Given the description of an element on the screen output the (x, y) to click on. 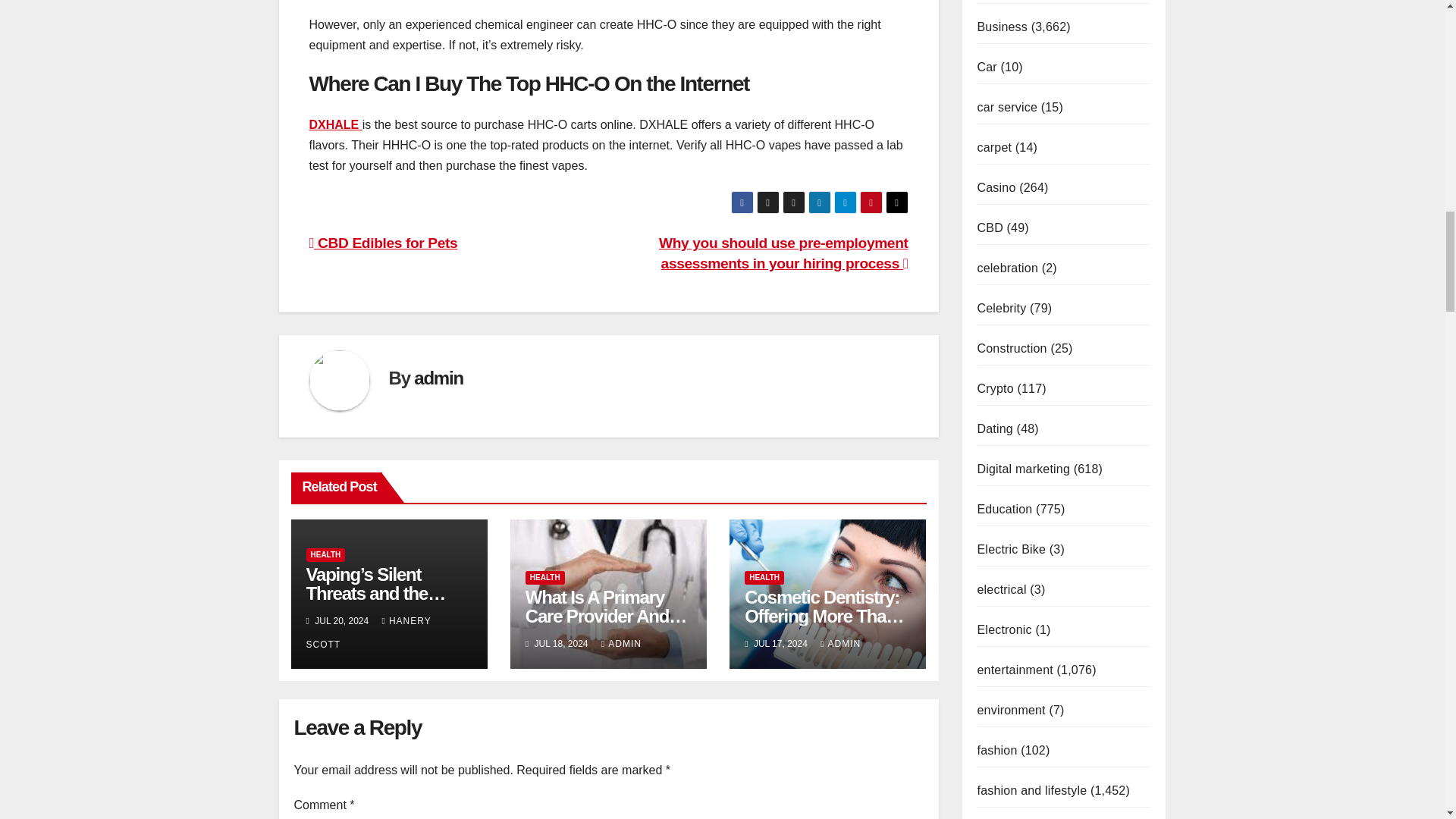
What Is A Primary Care Provider And Why Do You Need One? (606, 625)
DXHALE (335, 124)
HEALTH (325, 554)
HEALTH (544, 577)
CBD Edibles for Pets (383, 242)
HANERY SCOTT (367, 632)
admin (438, 377)
